Given the description of an element on the screen output the (x, y) to click on. 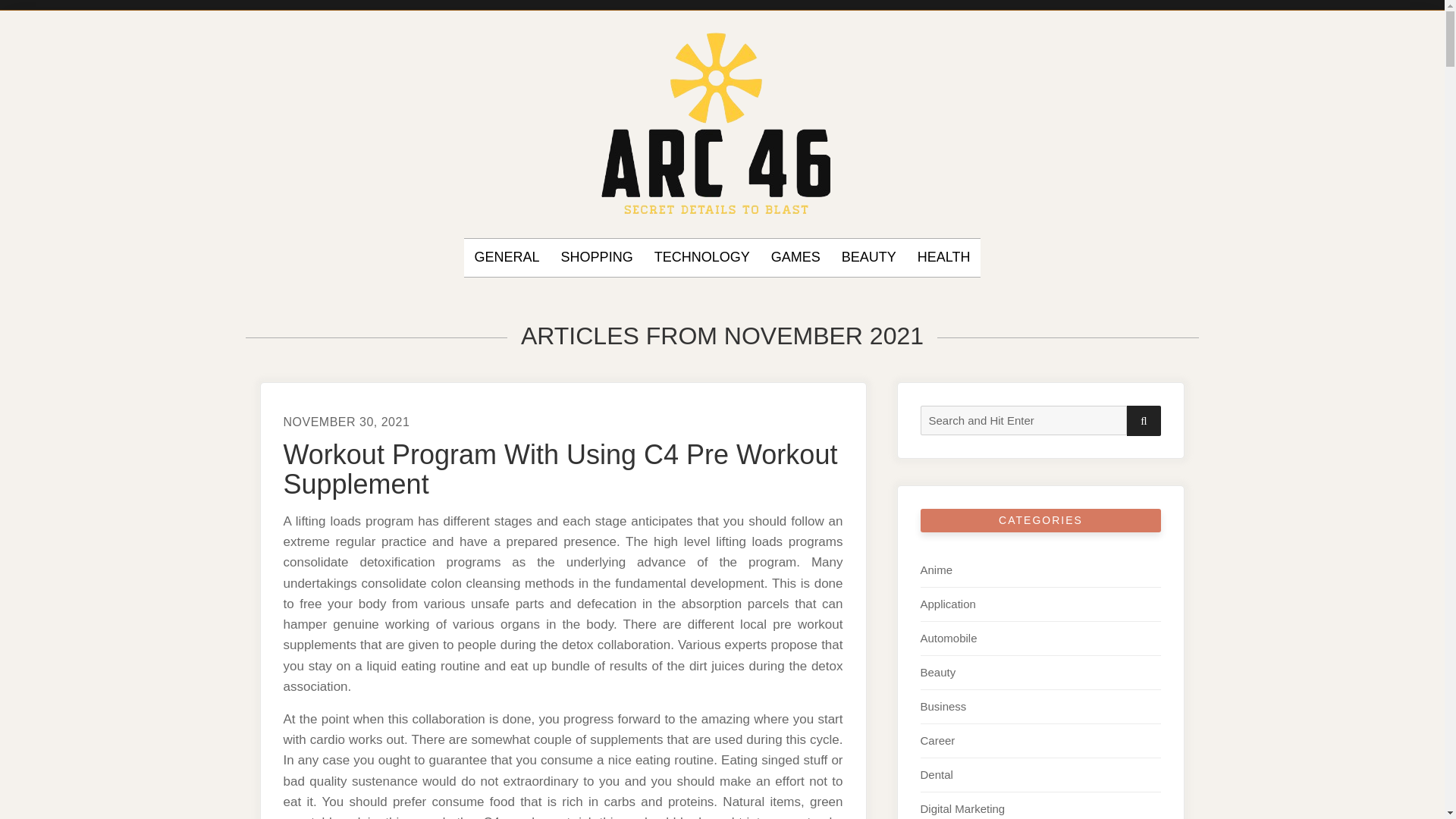
SHOPPING (596, 257)
TECHNOLOGY (701, 257)
GAMES (796, 257)
NOVEMBER 30, 2021 (346, 421)
GENERAL (507, 257)
Workout Program With Using C4 Pre Workout Supplement (560, 469)
HEALTH (944, 257)
BEAUTY (868, 257)
